Given the description of an element on the screen output the (x, y) to click on. 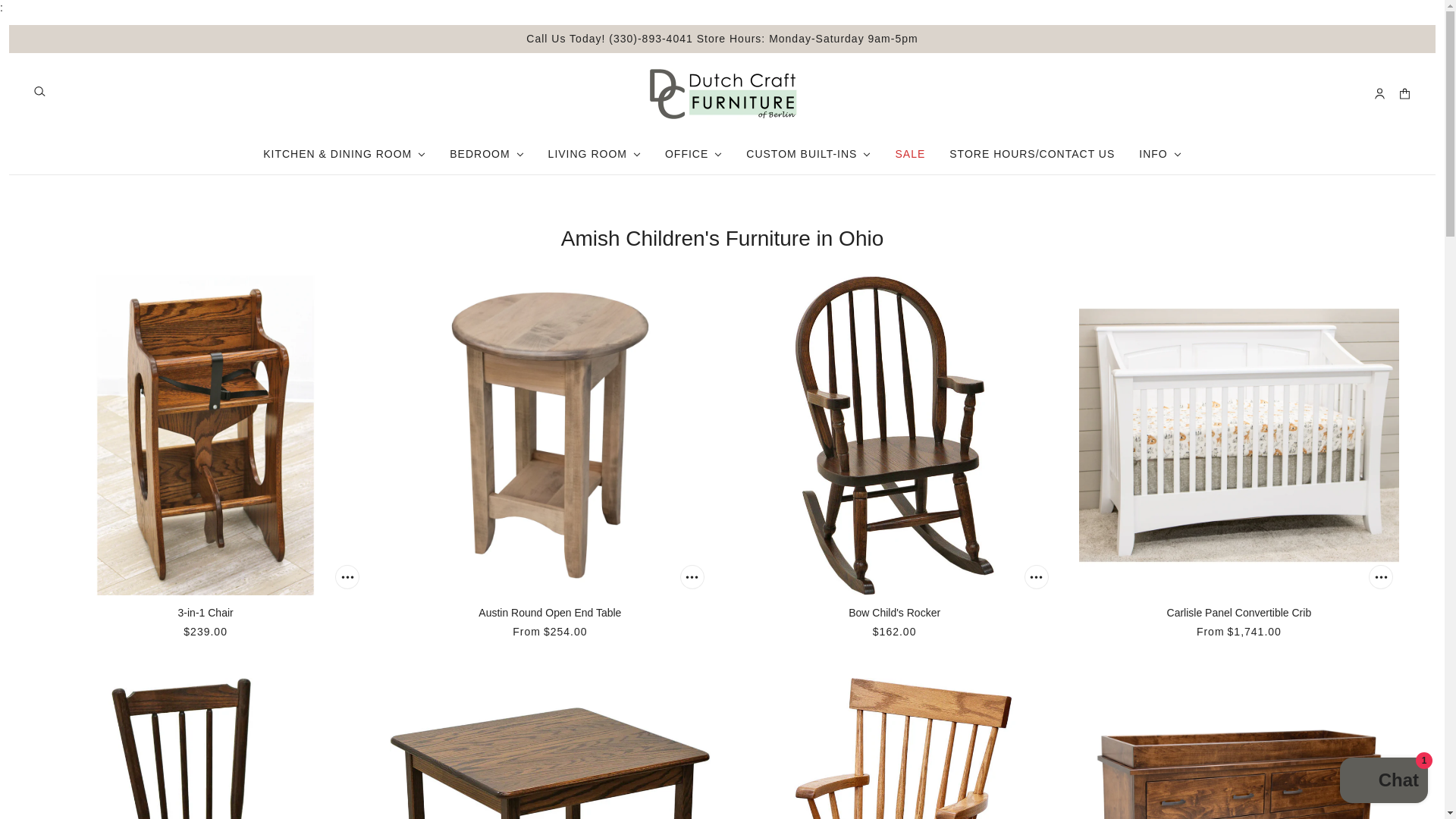
BEDROOM (486, 154)
Shopify online store chat (1383, 781)
Dutch Craft Furniture (722, 93)
